Given the description of an element on the screen output the (x, y) to click on. 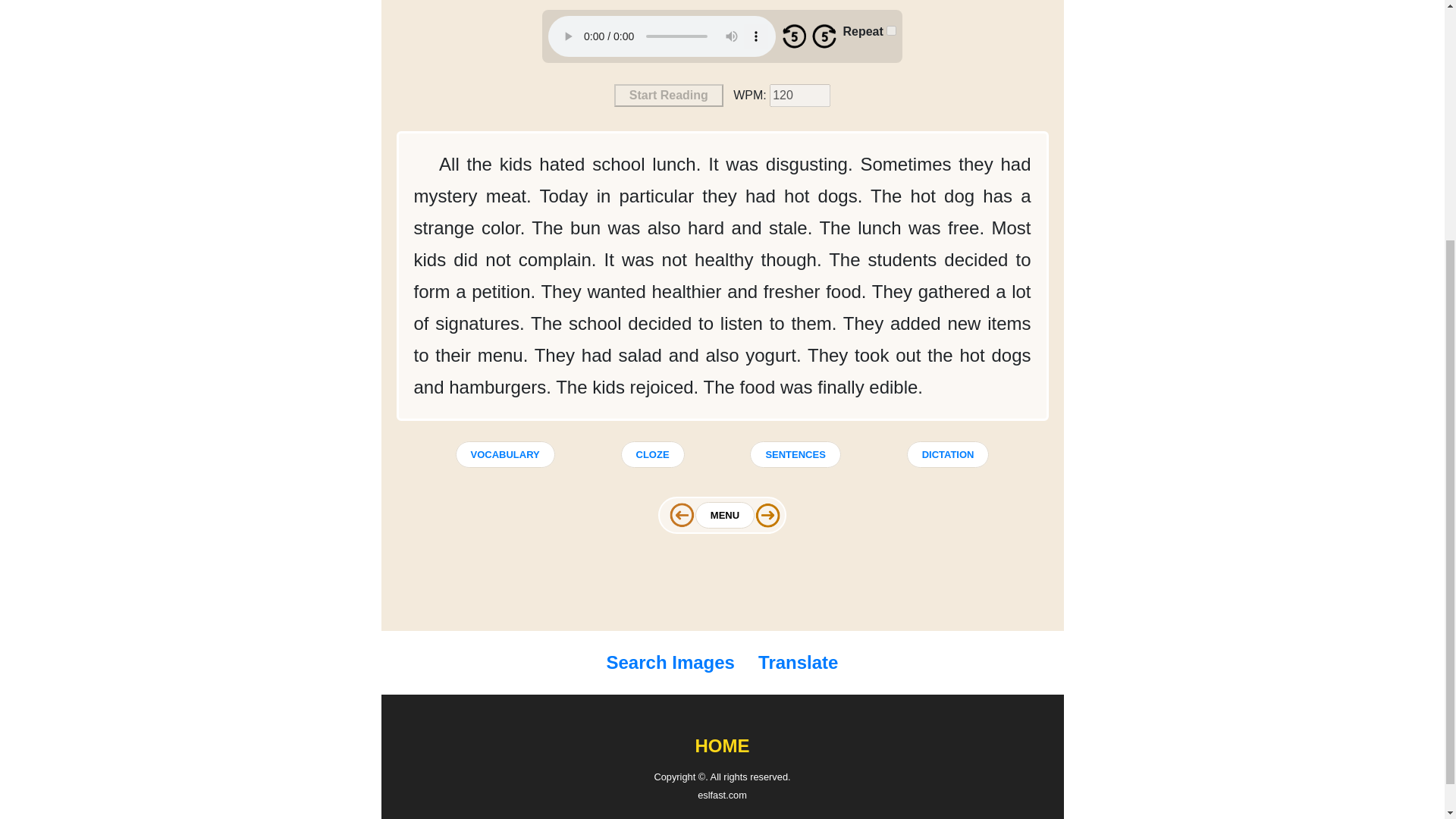
SENTENCES (794, 454)
Translate (795, 664)
MENU (724, 515)
on (891, 30)
HOME (721, 746)
VOCABULARY (504, 454)
Start Reading (668, 95)
CLOZE (652, 454)
Search Images (673, 664)
120 (799, 95)
DICTATION (948, 454)
